Given the description of an element on the screen output the (x, y) to click on. 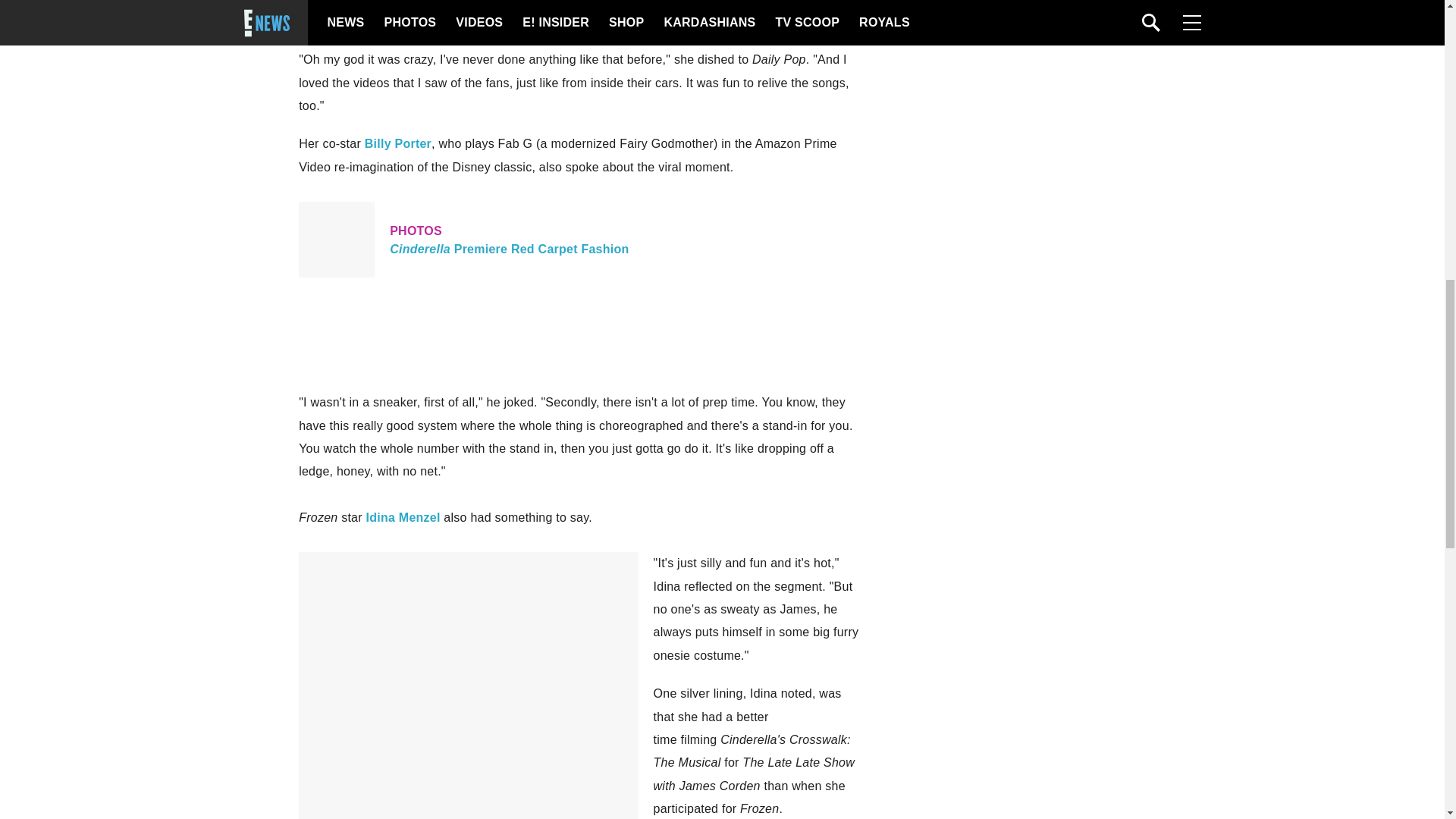
Jennifer Lopez (678, 2)
Billy Porter (581, 239)
Idina Menzel (397, 143)
